Given the description of an element on the screen output the (x, y) to click on. 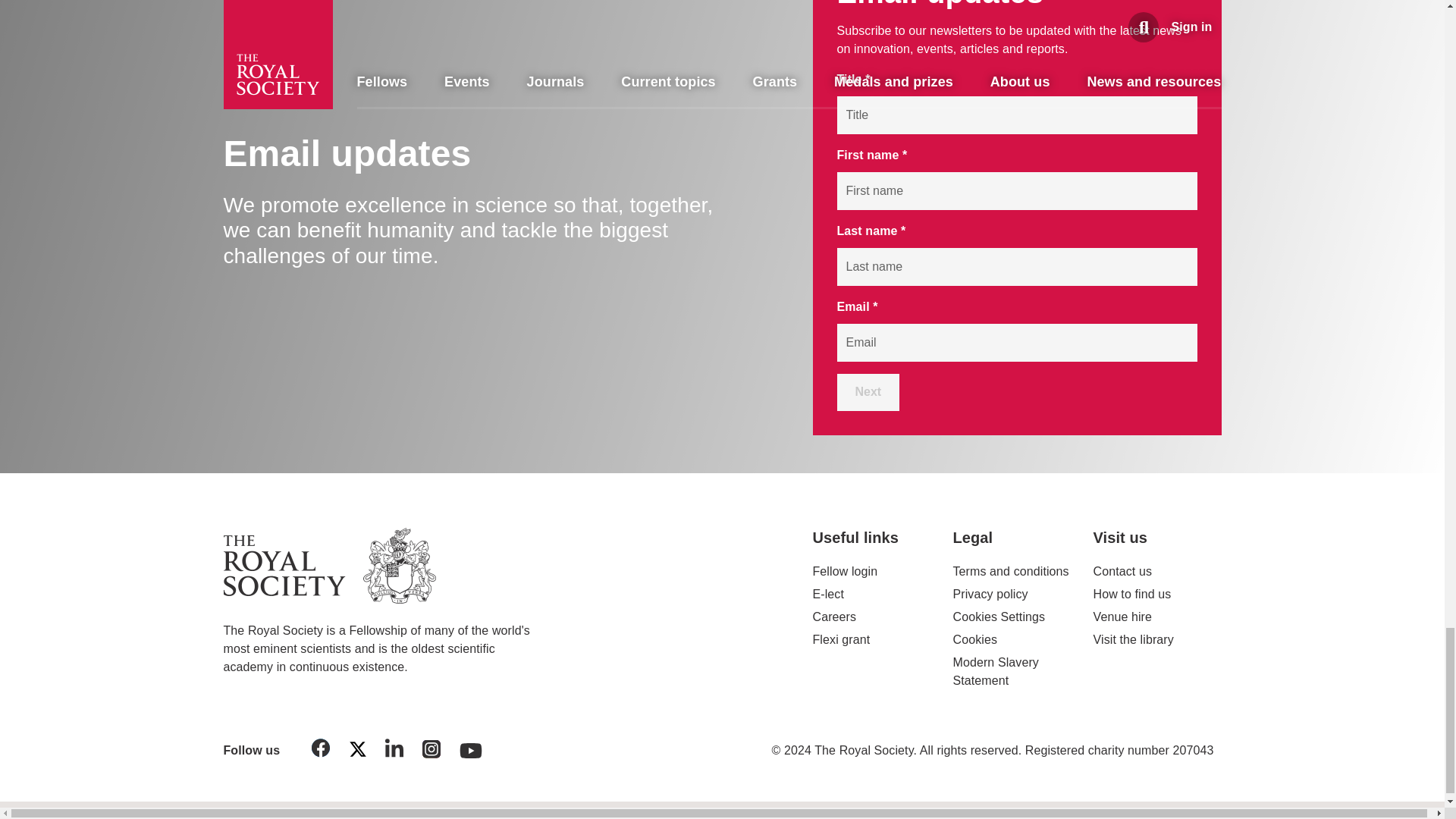
Instagram (431, 751)
YouTube (470, 746)
Facebook (320, 750)
Twitter (357, 752)
LinkedIn (393, 750)
